Given the description of an element on the screen output the (x, y) to click on. 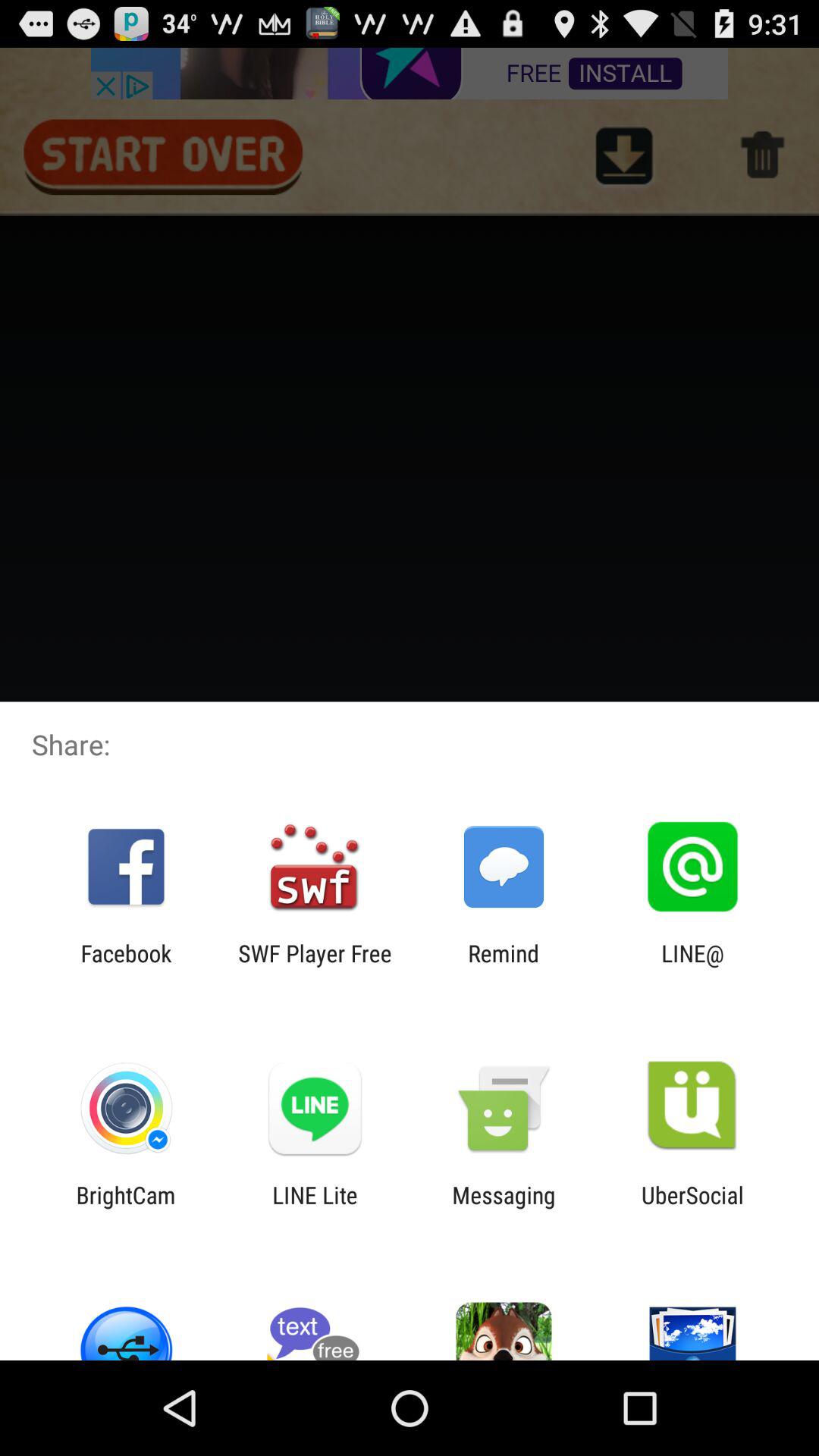
press app to the left of messaging item (314, 1208)
